Given the description of an element on the screen output the (x, y) to click on. 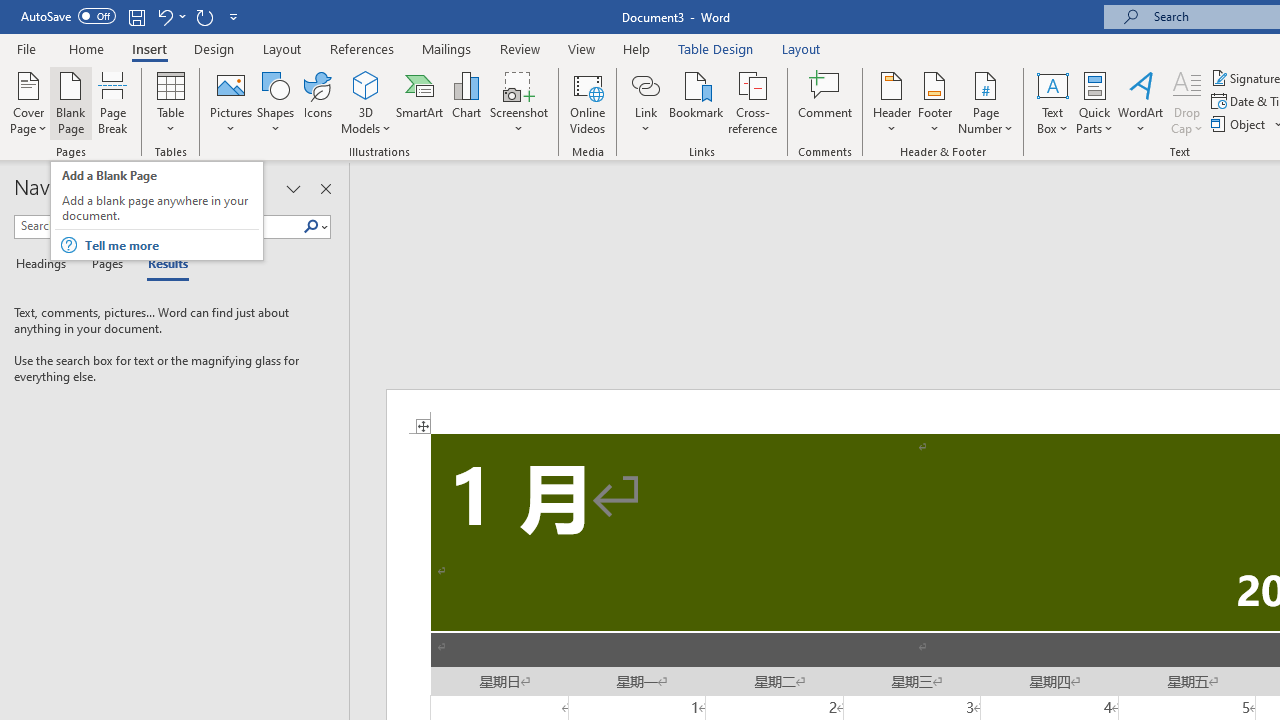
Text Box (1052, 102)
Page Break (113, 102)
Header (891, 102)
Drop Cap (1187, 102)
3D Models (366, 84)
Undo Apply Quick Style (170, 15)
Screenshot (518, 102)
Comment (825, 102)
